Given the description of an element on the screen output the (x, y) to click on. 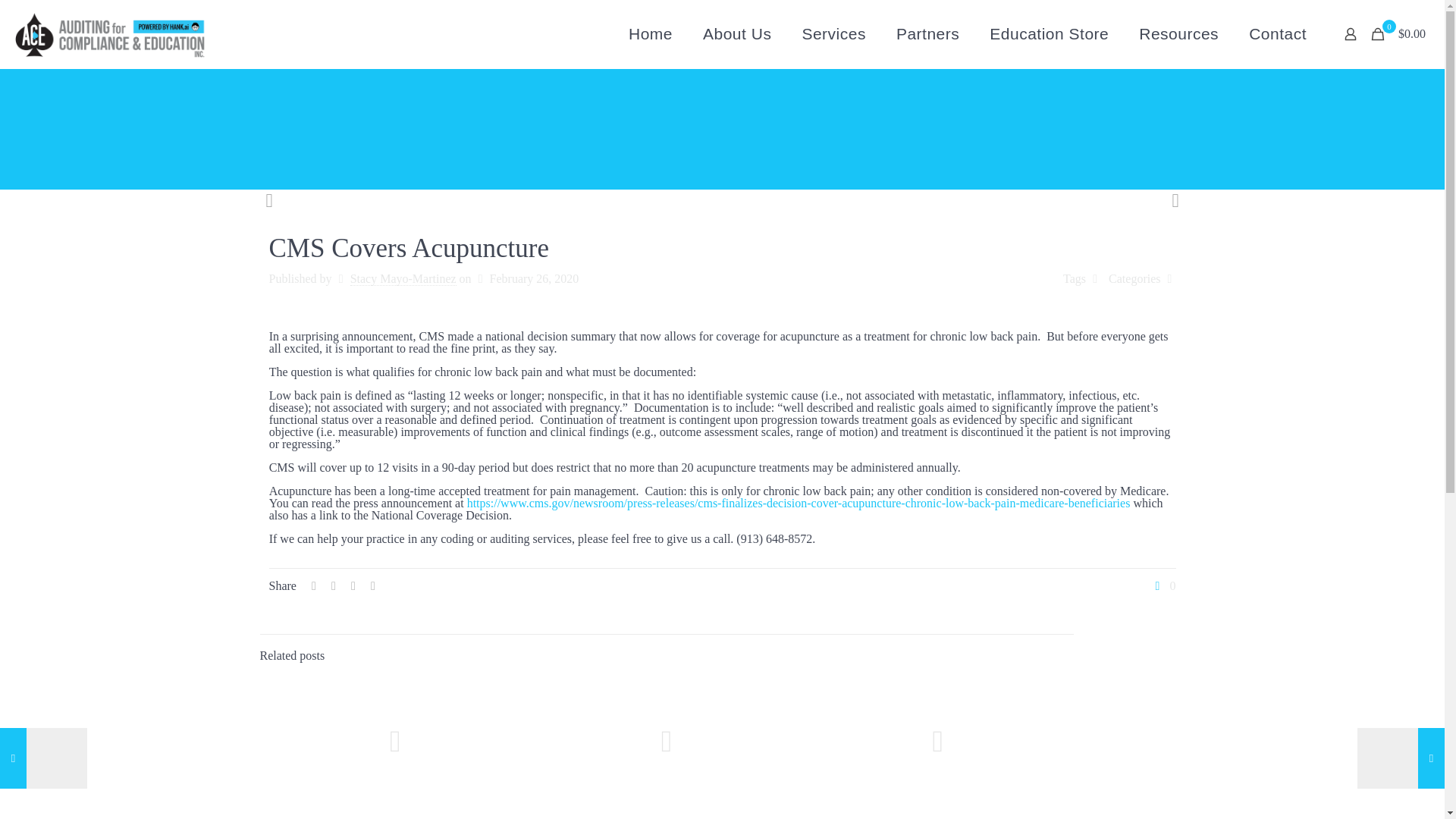
Resources (1178, 33)
Partners (927, 33)
Contact (1277, 33)
Education Store (1049, 33)
Services (833, 33)
About Us (736, 33)
Stacy Mayo-Martinez (403, 278)
Home (649, 33)
ACE Auditing for Compliance and Education (110, 33)
0 (1162, 585)
